Given the description of an element on the screen output the (x, y) to click on. 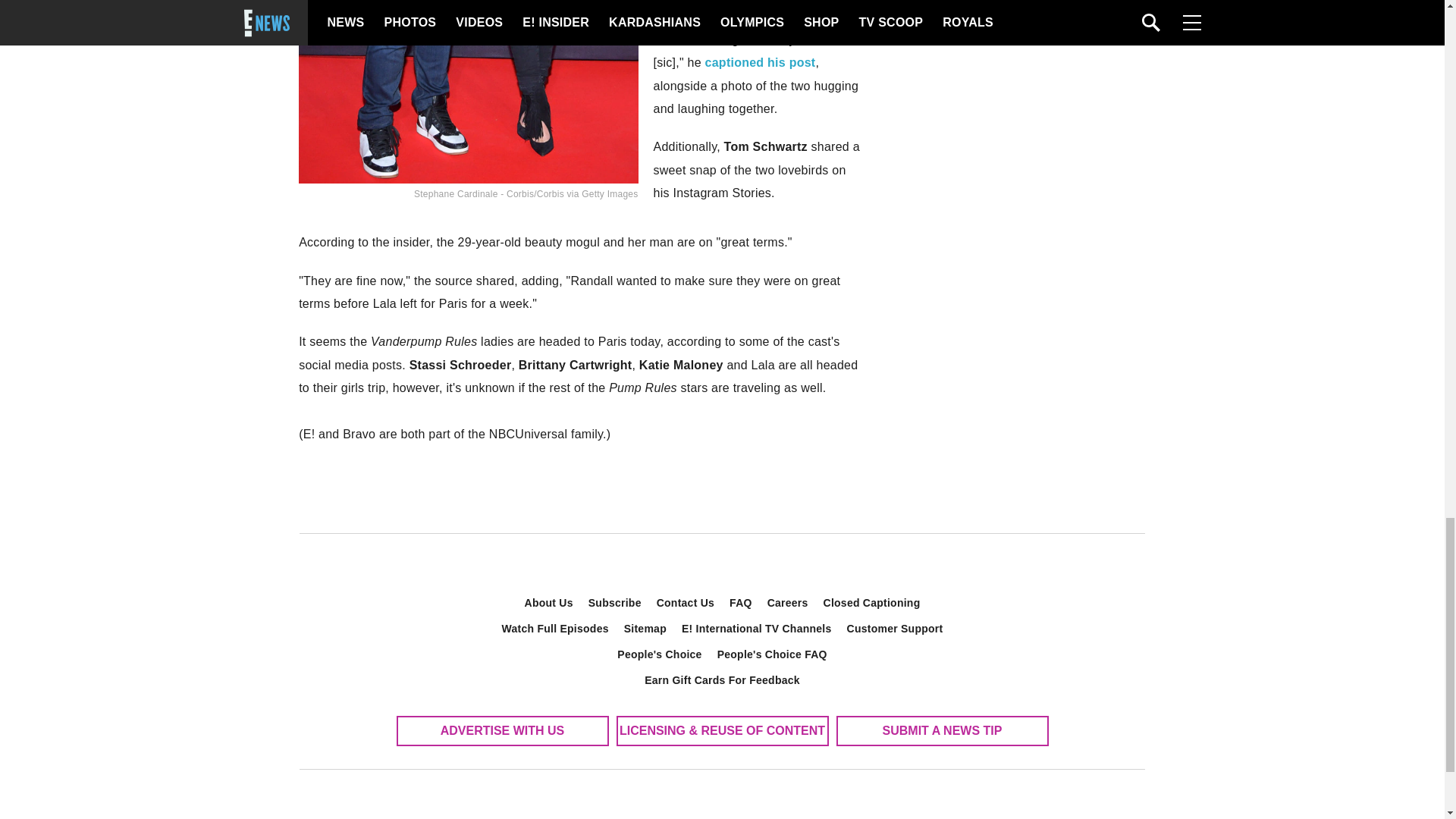
About Us (548, 602)
captioned his post (759, 62)
Subscribe (614, 602)
